Given the description of an element on the screen output the (x, y) to click on. 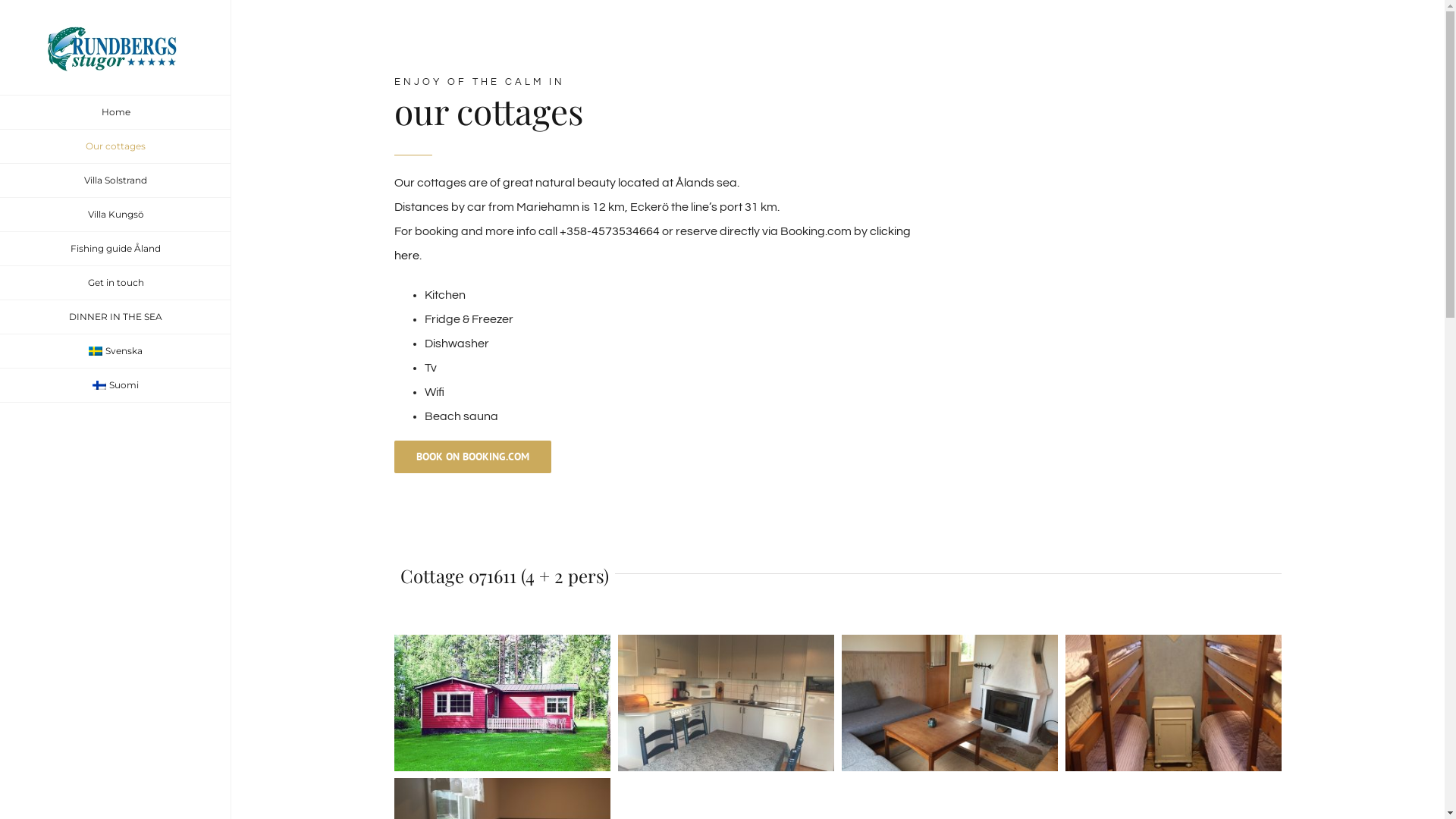
Our cottages Element type: text (115, 146)
Svenska Element type: text (115, 351)
Rundbergsstugor Element type: hover (502, 702)
Suomi Element type: text (115, 385)
+358-4573534664 Element type: text (609, 231)
rundbergsstugor Element type: hover (726, 702)
DINNER IN THE SEA Element type: text (115, 317)
Home Element type: text (115, 111)
Suomi Element type: hover (99, 384)
BOOK ON BOOKING.COM Element type: text (472, 456)
Get in touch Element type: text (115, 283)
clicking here Element type: text (652, 243)
Svenska Element type: hover (95, 350)
Rundbergsstugor Element type: hover (1173, 702)
Villa Solstrand Element type: text (115, 180)
Rundbergsstugor Element type: hover (949, 702)
